Given the description of an element on the screen output the (x, y) to click on. 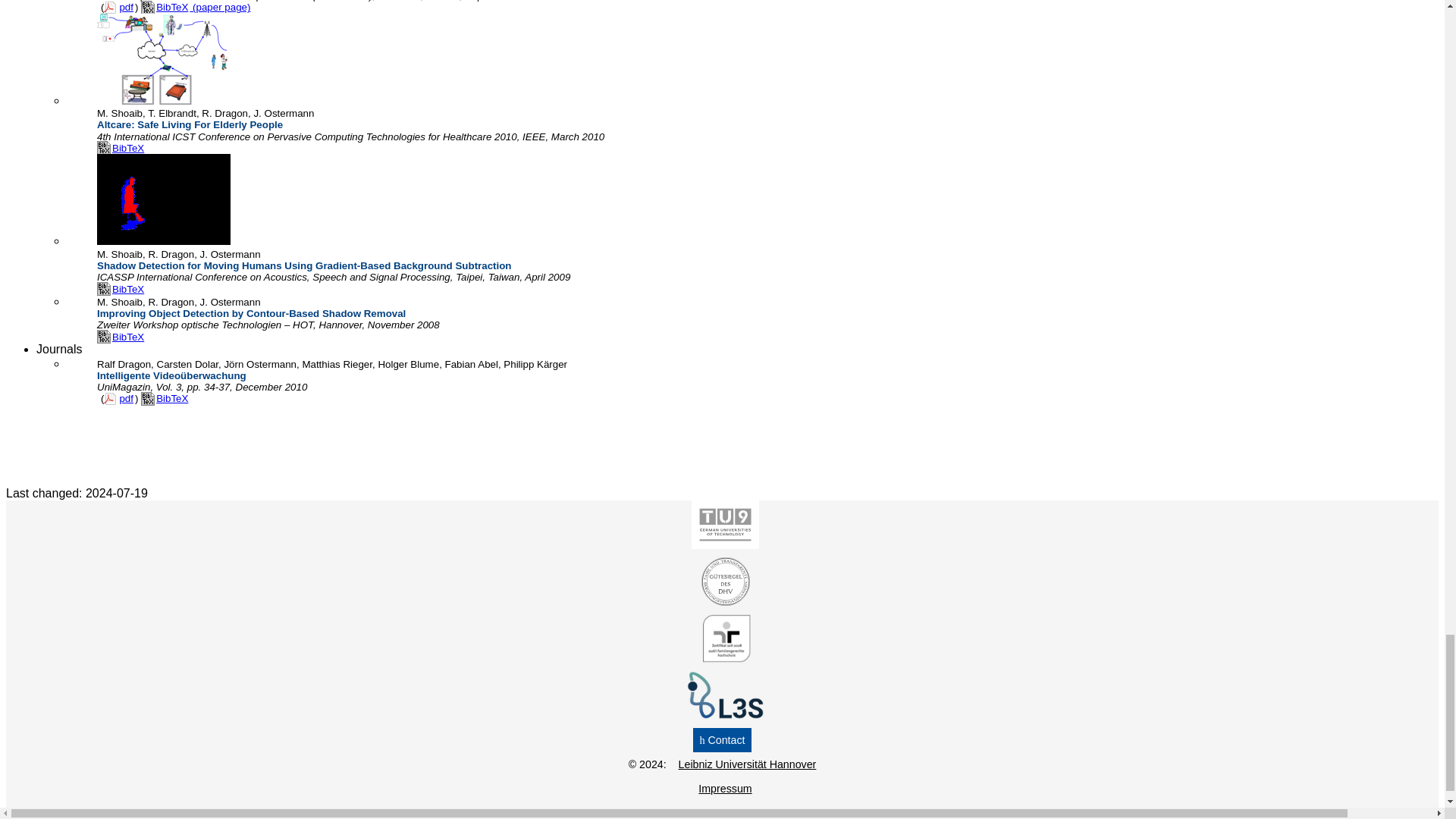
audit - familiengerechte hochschule (722, 658)
Contact (722, 740)
L3S (722, 715)
